Given the description of an element on the screen output the (x, y) to click on. 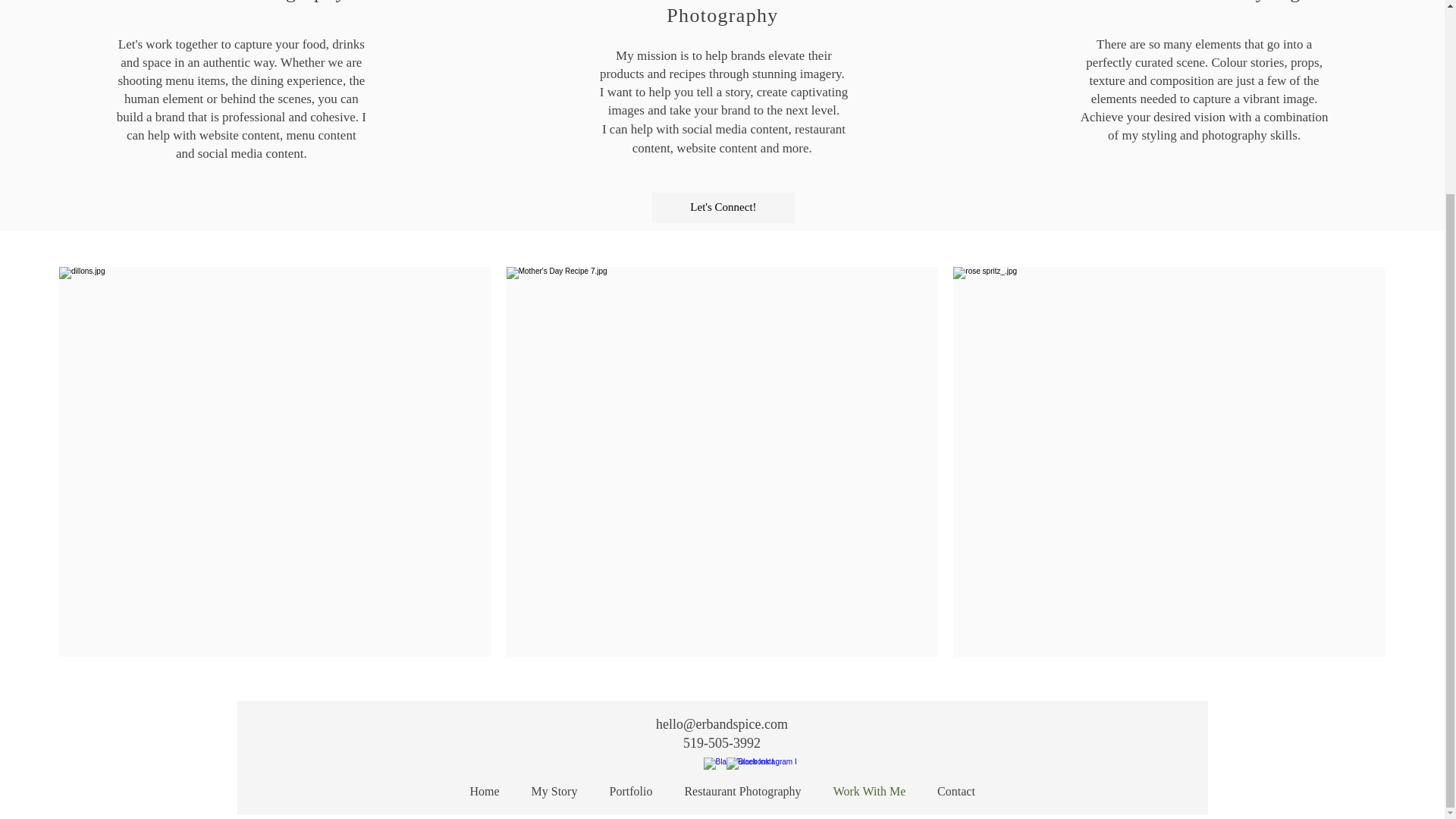
519-505-3992 (721, 743)
Let's Connect! (723, 207)
Contact (956, 791)
My Story (554, 791)
Home (483, 791)
Portfolio (630, 791)
Work With Me (868, 791)
